Given the description of an element on the screen output the (x, y) to click on. 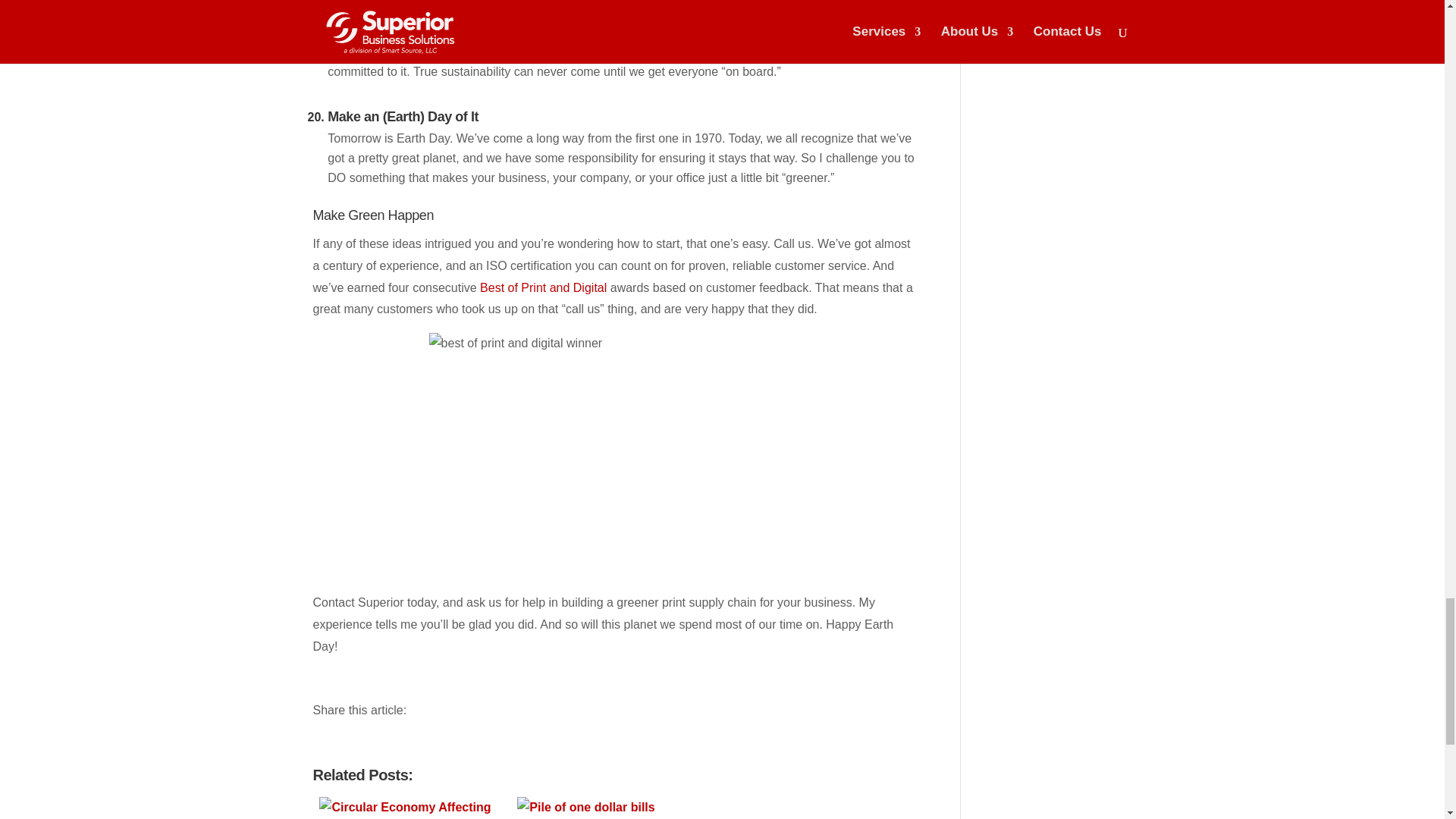
How The Circular Economy Impacts Packaging    (409, 807)
Best of Print and Digital (543, 287)
